Given the description of an element on the screen output the (x, y) to click on. 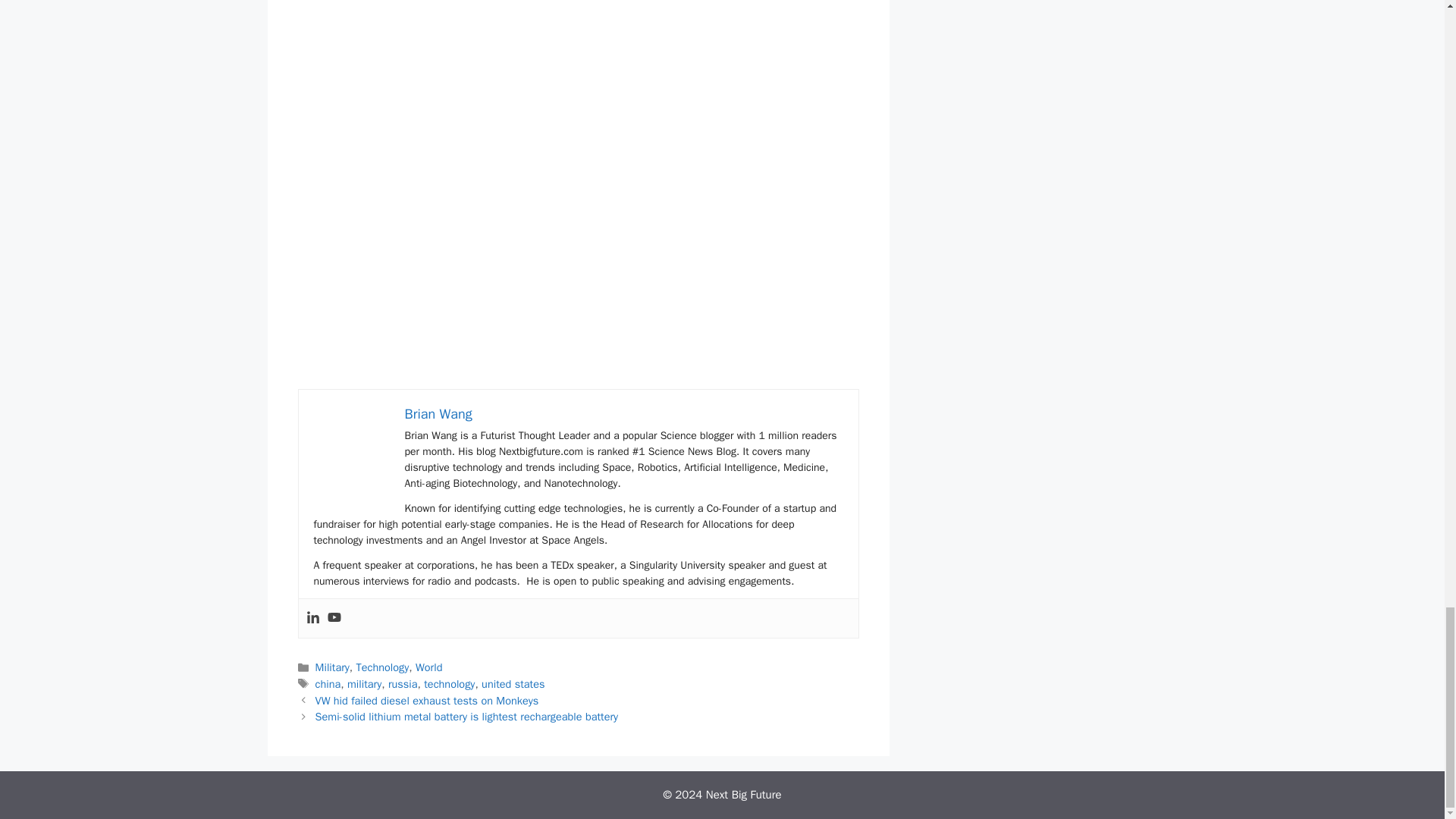
Military (332, 667)
military (364, 684)
Technology (382, 667)
Brian Wang (437, 413)
VW hid failed diesel exhaust tests on Monkeys (426, 700)
china (327, 684)
russia (402, 684)
technology (448, 684)
united states (512, 684)
World (428, 667)
